Given the description of an element on the screen output the (x, y) to click on. 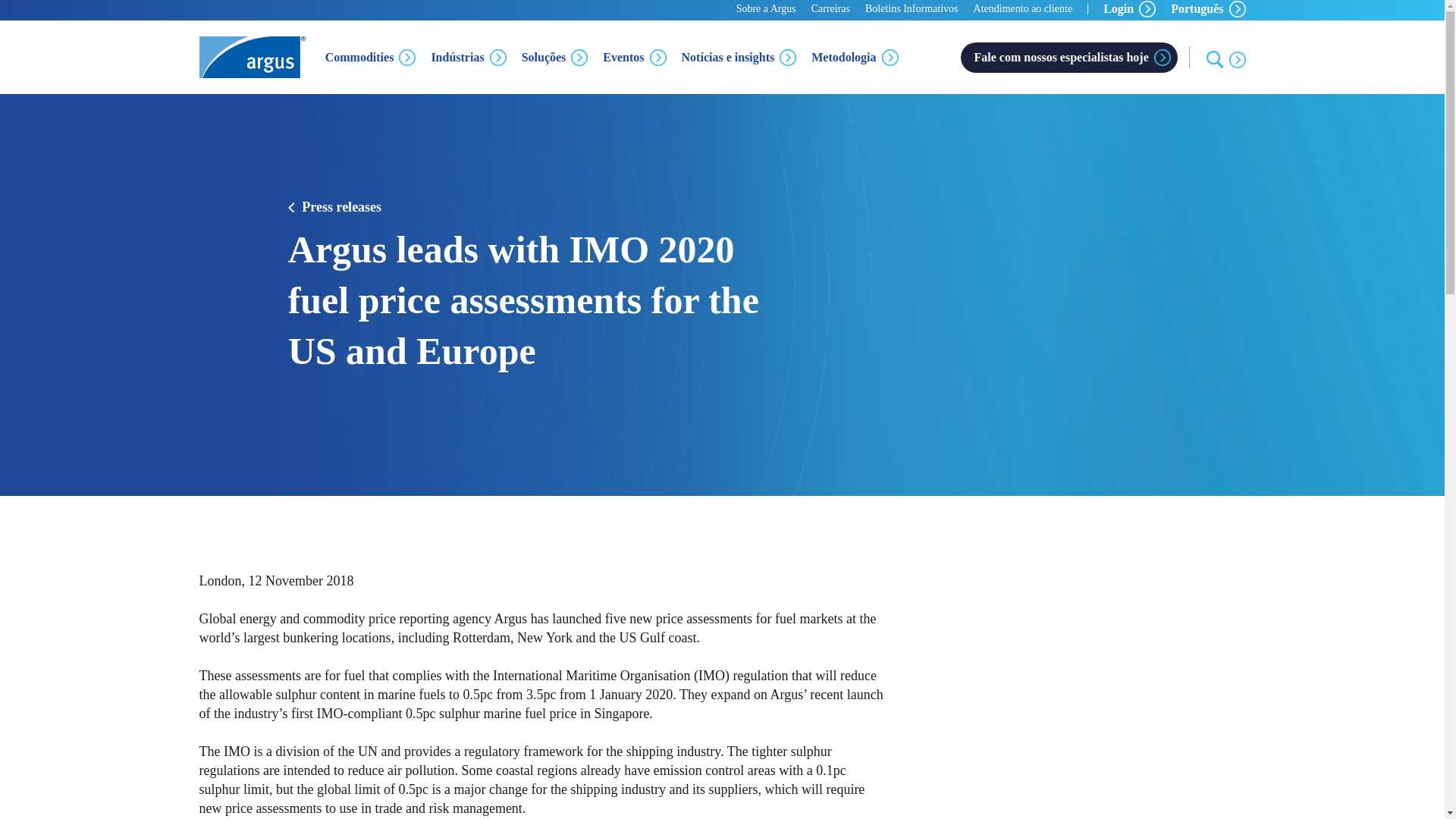
Sobre a Argus (766, 8)
Login (1129, 8)
Boletins Informativos (911, 8)
Atendimento ao cliente (1023, 8)
Commodities (370, 56)
Carreiras (830, 8)
